Given the description of an element on the screen output the (x, y) to click on. 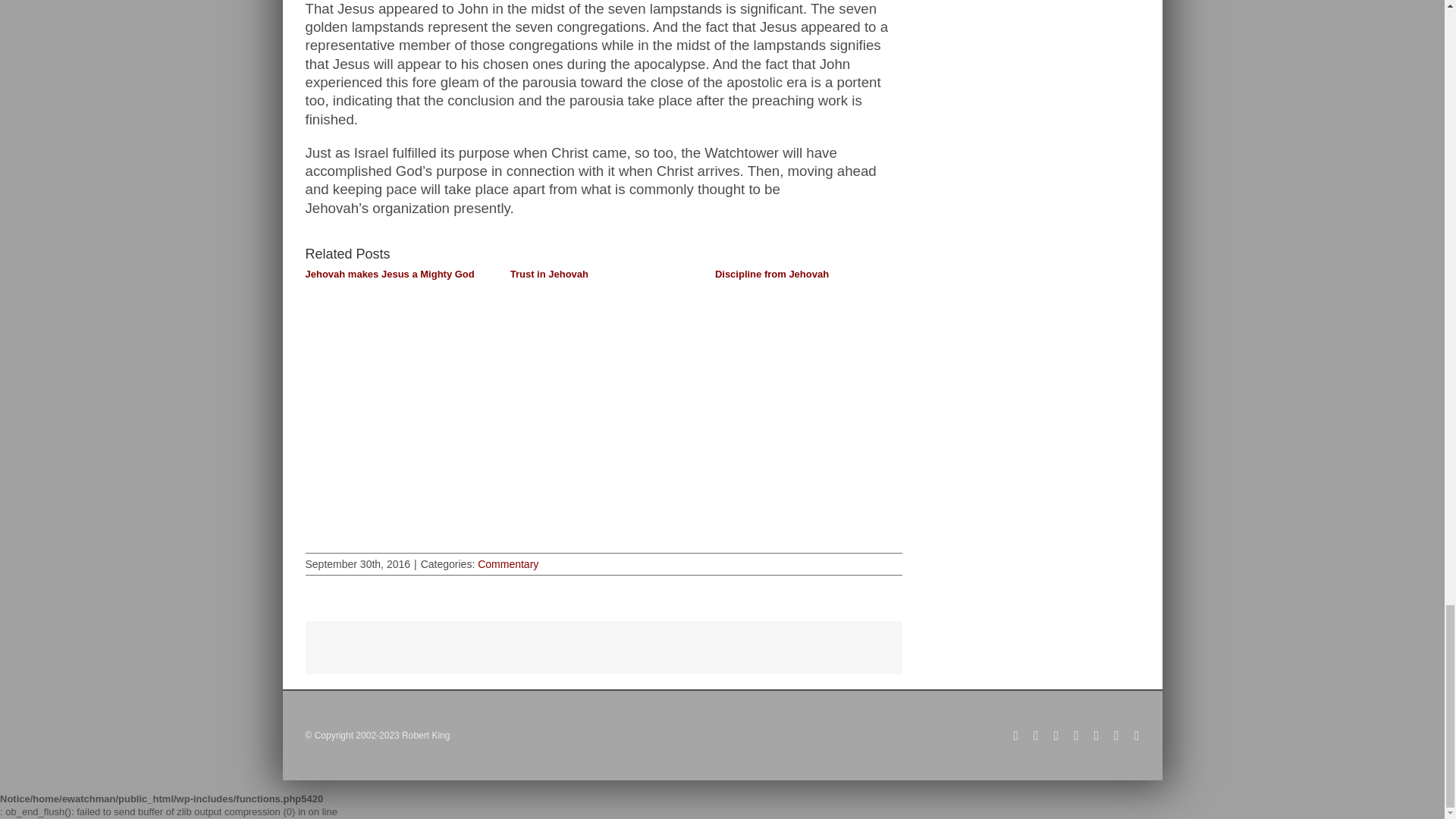
Discipline from Jehovah (771, 274)
Commentary (507, 563)
Jehovah makes Jesus a Mighty God (389, 274)
Trust in Jehovah (549, 274)
